Given the description of an element on the screen output the (x, y) to click on. 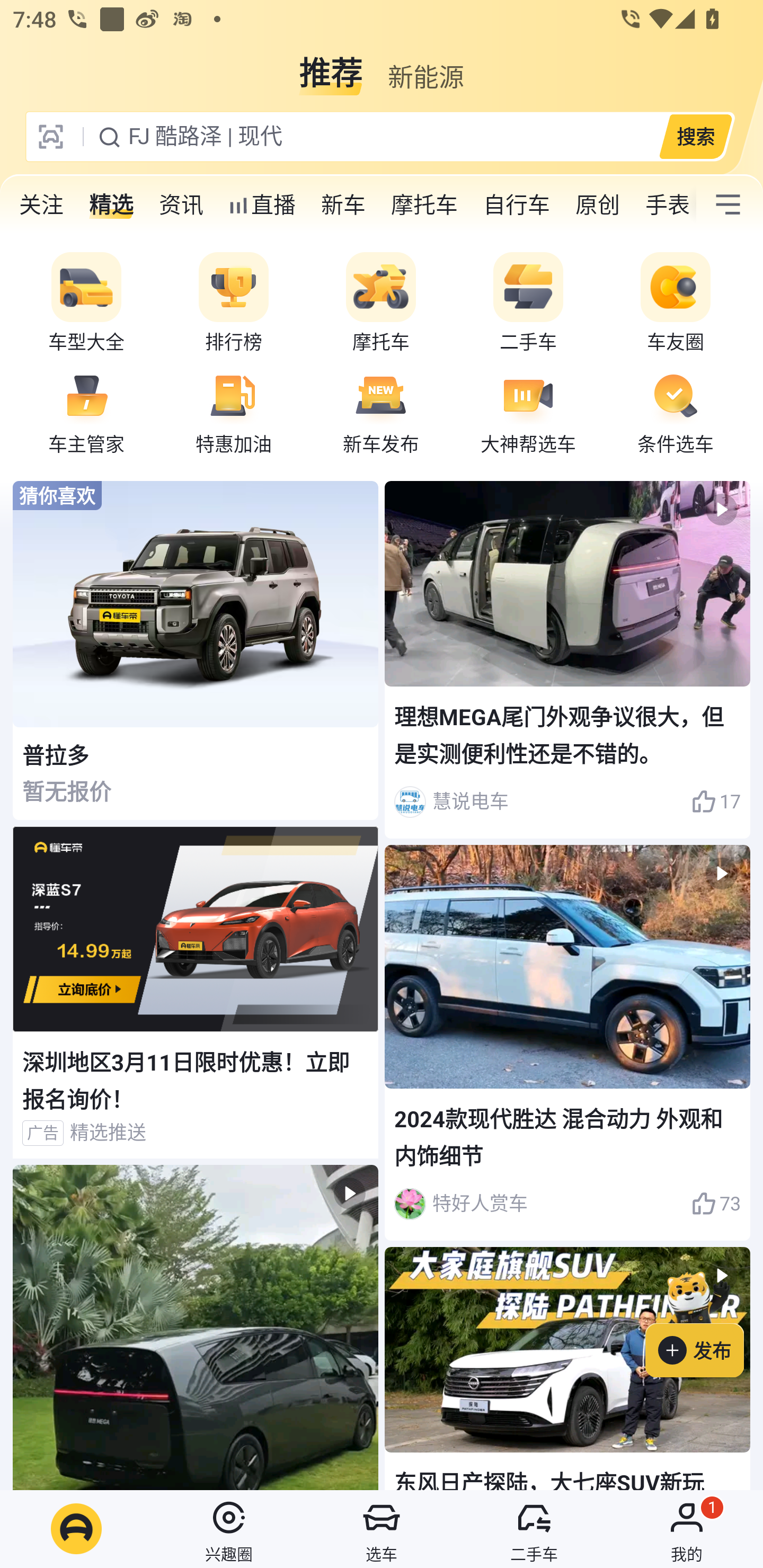
推荐 (330, 65)
新能源 (425, 65)
搜索 (695, 136)
关注 (41, 204)
精选 (111, 204)
资讯 (180, 204)
直播 (261, 204)
新车 (343, 204)
摩托车 (424, 204)
自行车 (516, 204)
原创 (597, 204)
手表 (663, 204)
 (727, 204)
车型大全 (86, 303)
排行榜 (233, 303)
摩托车 (380, 303)
二手车 (528, 303)
车友圈 (675, 303)
车主管家 (86, 411)
特惠加油 (233, 411)
新车发布 (380, 411)
大神帮选车 (528, 411)
条件选车 (675, 411)
猜你喜欢 普拉多 暂无报价 (195, 650)
 理想MEGA尾门外观争议很大，但是实测便利性还是不错的。 慧说电车 17 (567, 659)
17 (715, 801)
深圳地区3月11日限时优惠！立即报名询价！ 广告 精选推送 (195, 992)
 2024款现代胜达 混合动力 外观和内饰细节 特好人赏车 73 (567, 1042)
 (195, 1327)
73 (715, 1203)
 东风日产探陆，大七座SUV新玩家！ (567, 1367)
发布 (704, 1320)
 兴趣圈 (228, 1528)
 选车 (381, 1528)
 二手车 (533, 1528)
 我的 (686, 1528)
